Given the description of an element on the screen output the (x, y) to click on. 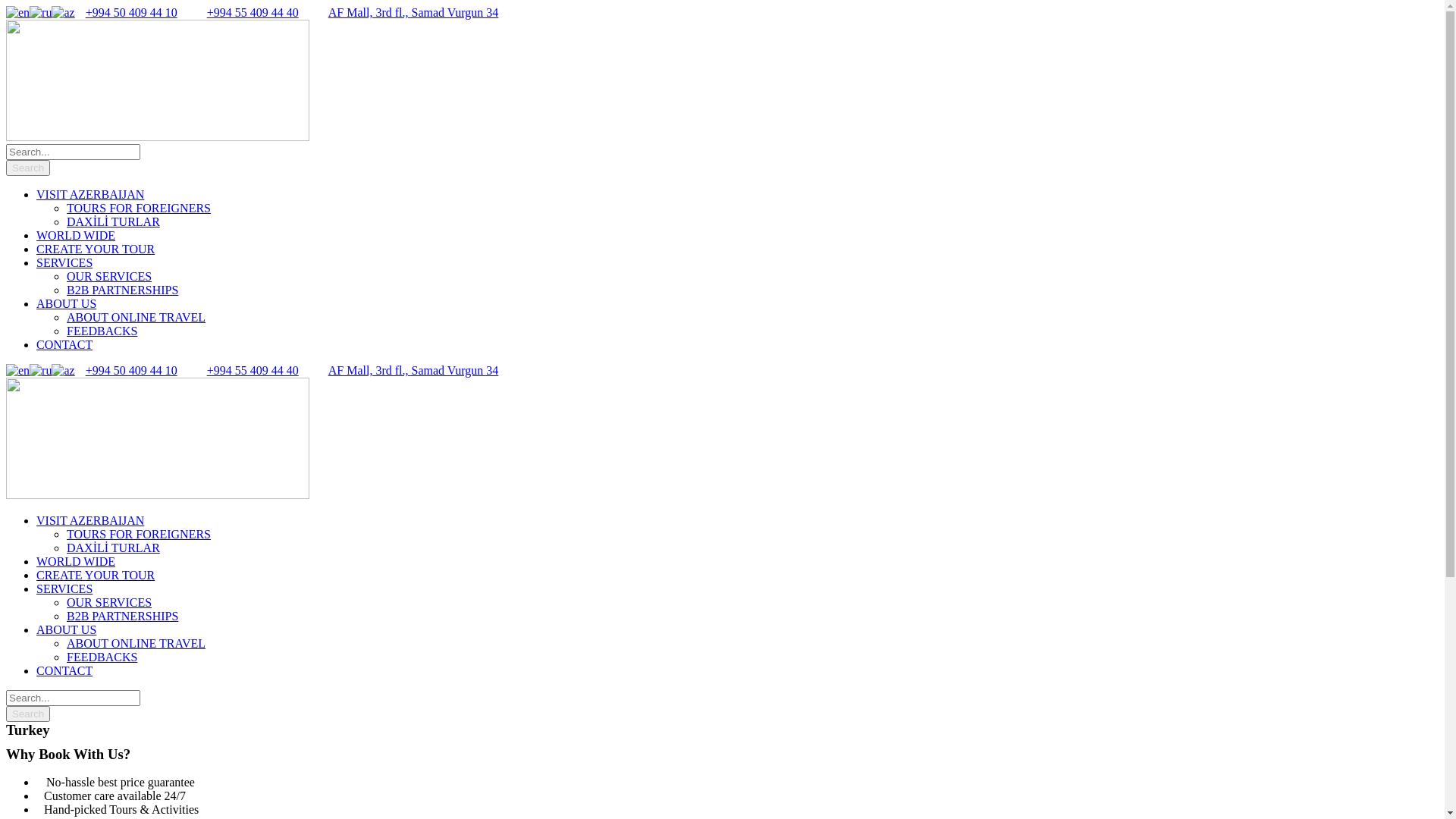
ABOUT US Element type: text (66, 629)
SERVICES Element type: text (64, 262)
FEEDBACKS Element type: text (101, 330)
Search Element type: text (28, 713)
B2B PARTNERSHIPS Element type: text (122, 289)
CONTACT Element type: text (64, 670)
WORLD WIDE Element type: text (75, 561)
CREATE YOUR TOUR Element type: text (95, 248)
VISIT AZERBAIJAN Element type: text (90, 520)
+994 50 409 44 10 Element type: text (131, 12)
CREATE YOUR TOUR Element type: text (95, 574)
OUR SERVICES Element type: text (108, 275)
TOURS FOR FOREIGNERS Element type: text (138, 533)
ABOUT ONLINE TRAVEL Element type: text (135, 316)
ABOUT ONLINE TRAVEL Element type: text (135, 643)
+994 55 409 44 40 Element type: text (252, 370)
AF Mall, 3rd fl., Samad Vurgun 34 Element type: text (413, 370)
+994 55 409 44 40 Element type: text (252, 12)
ABOUT US Element type: text (66, 303)
OUR SERVICES Element type: text (108, 602)
WORLD WIDE Element type: text (75, 235)
VISIT AZERBAIJAN Element type: text (90, 194)
B2B PARTNERSHIPS Element type: text (122, 615)
FEEDBACKS Element type: text (101, 656)
+994 50 409 44 10 Element type: text (131, 370)
TOURS FOR FOREIGNERS Element type: text (138, 207)
CONTACT Element type: text (64, 344)
Search Element type: text (28, 167)
AF Mall, 3rd fl., Samad Vurgun 34 Element type: text (413, 12)
SERVICES Element type: text (64, 588)
